Given the description of an element on the screen output the (x, y) to click on. 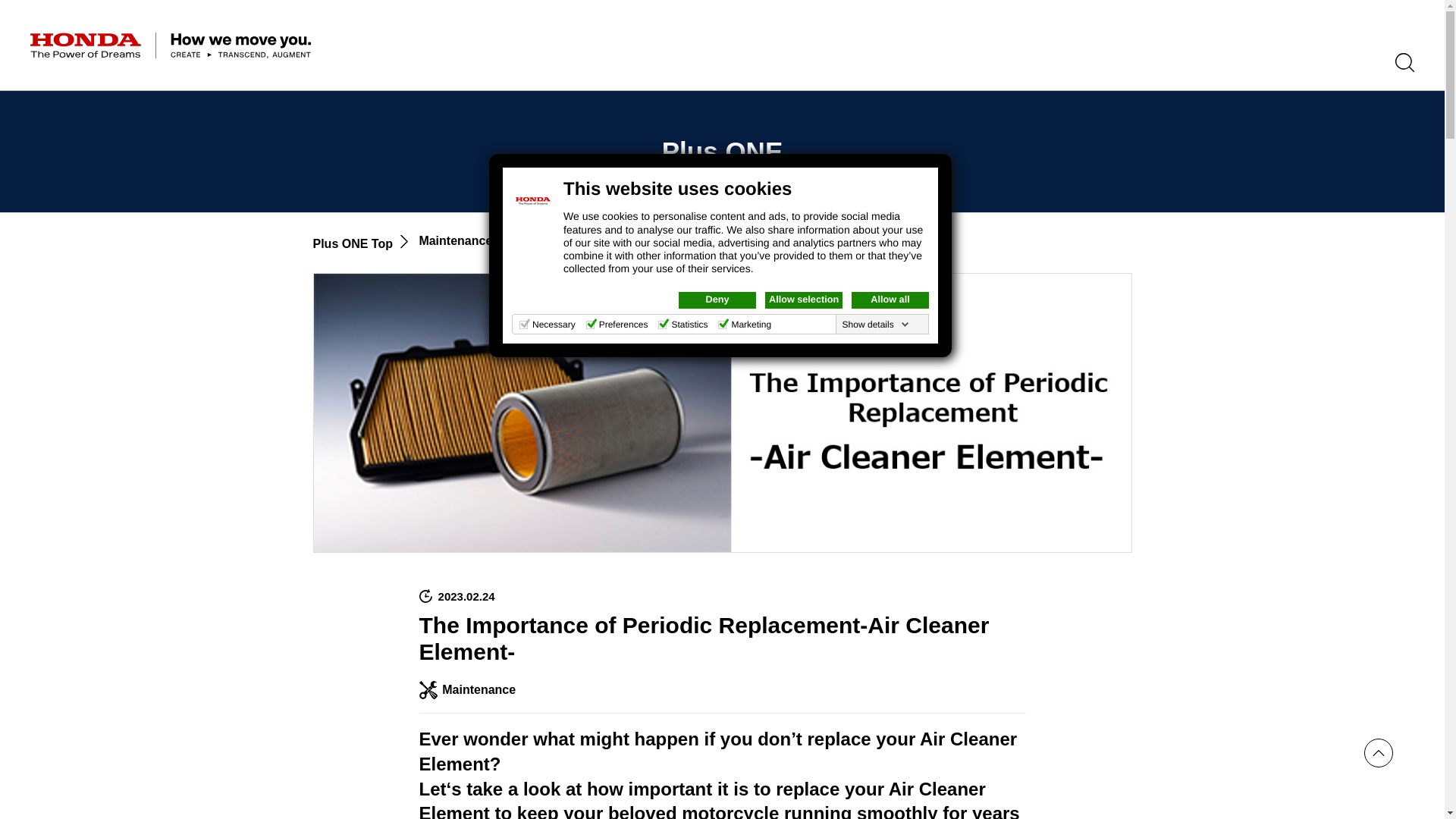
Allow selection (804, 299)
Show details (876, 324)
Deny (716, 299)
Allow all (889, 299)
